Given the description of an element on the screen output the (x, y) to click on. 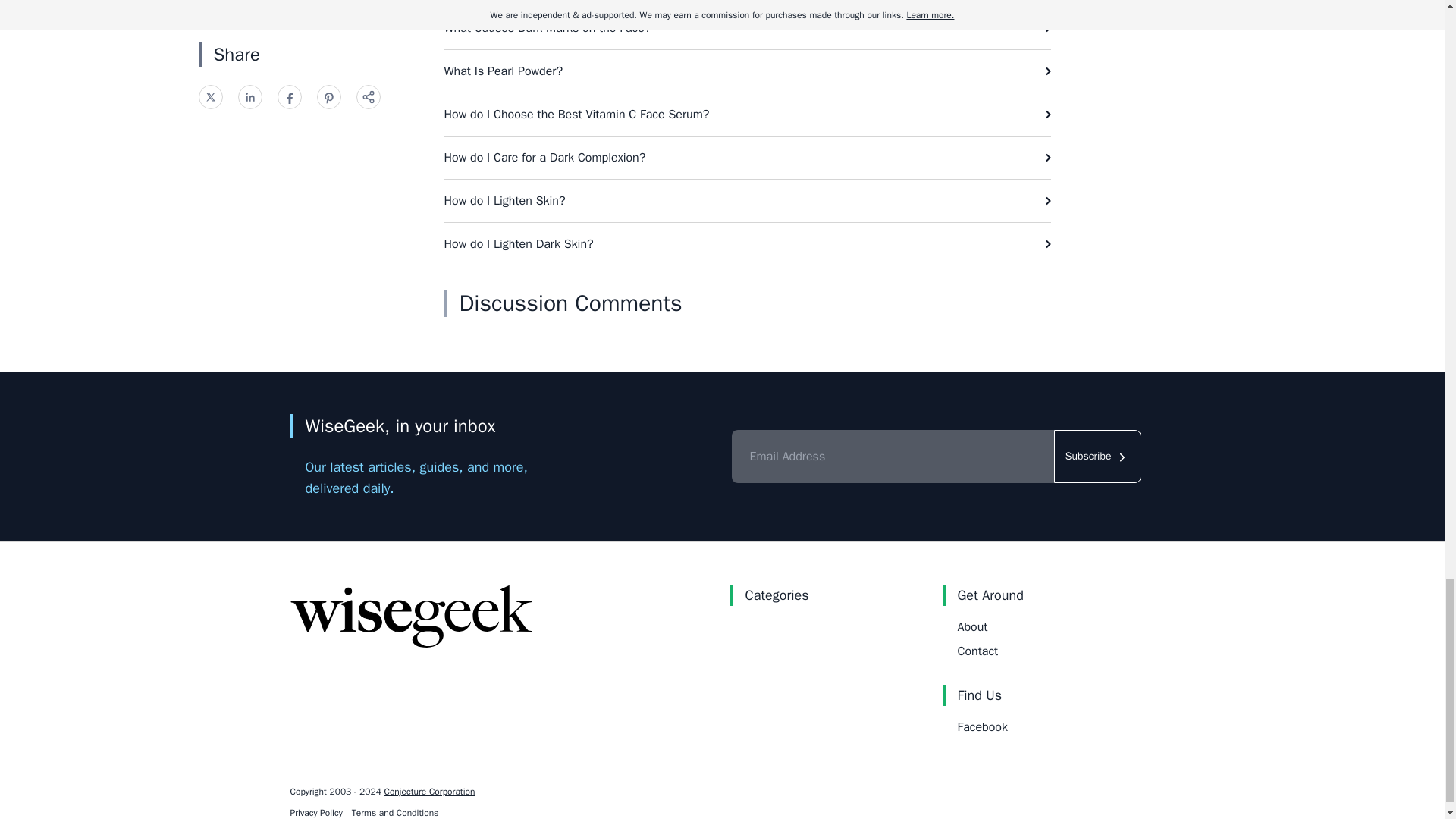
How do I Care for a Dark Complexion? (747, 157)
How do I Choose the Best Vitamin C Face Serum? (747, 114)
What Is Pearl Powder? (747, 70)
How do I Lighten Dark Skin? (747, 243)
How do I Lighten Skin? (747, 200)
What Causes Dark Marks on the Face? (747, 27)
